Given the description of an element on the screen output the (x, y) to click on. 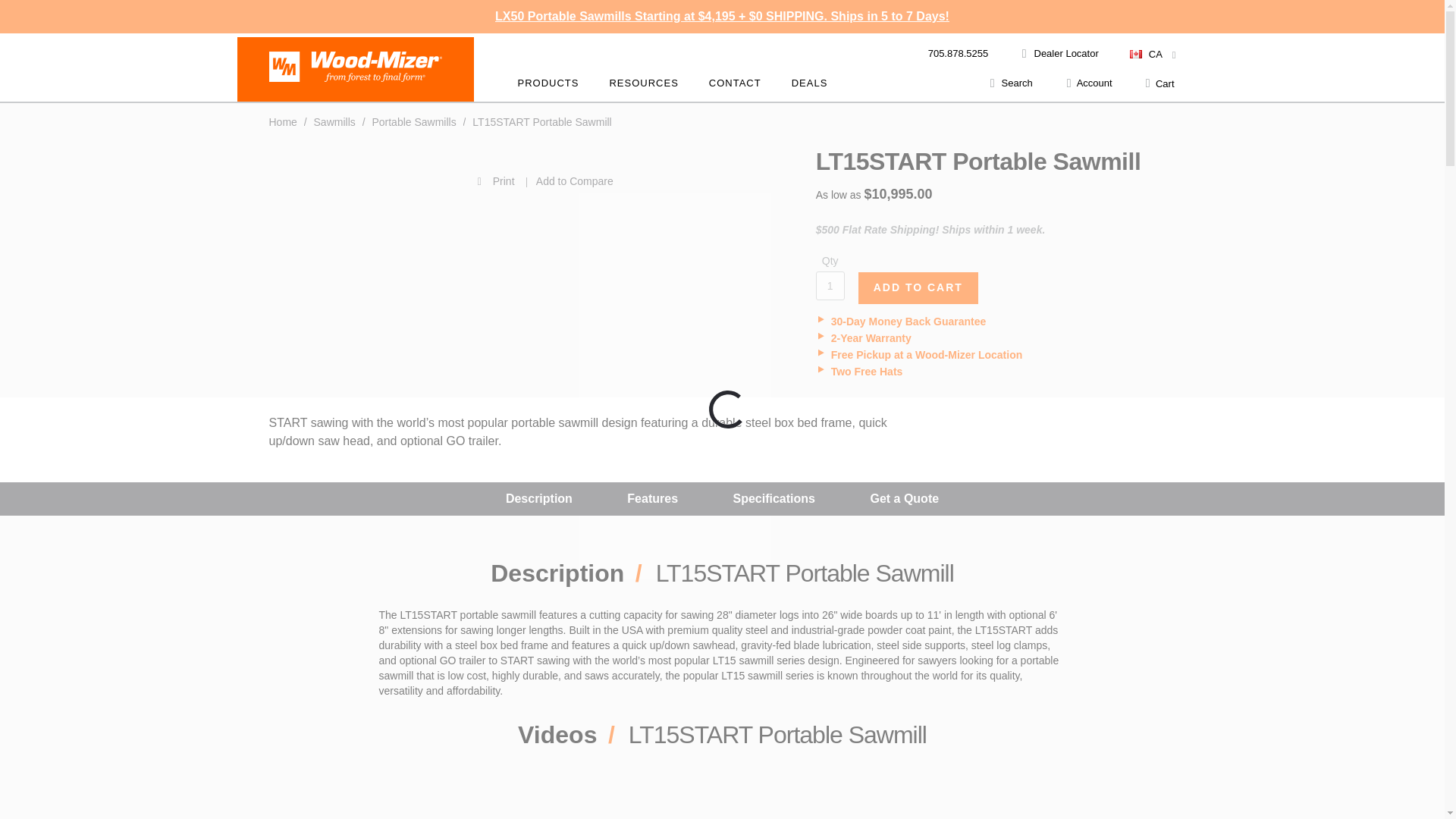
Qty (829, 285)
Go to Home Page (283, 121)
Print (394, 181)
Add to Cart (918, 287)
1 (829, 285)
